Given the description of an element on the screen output the (x, y) to click on. 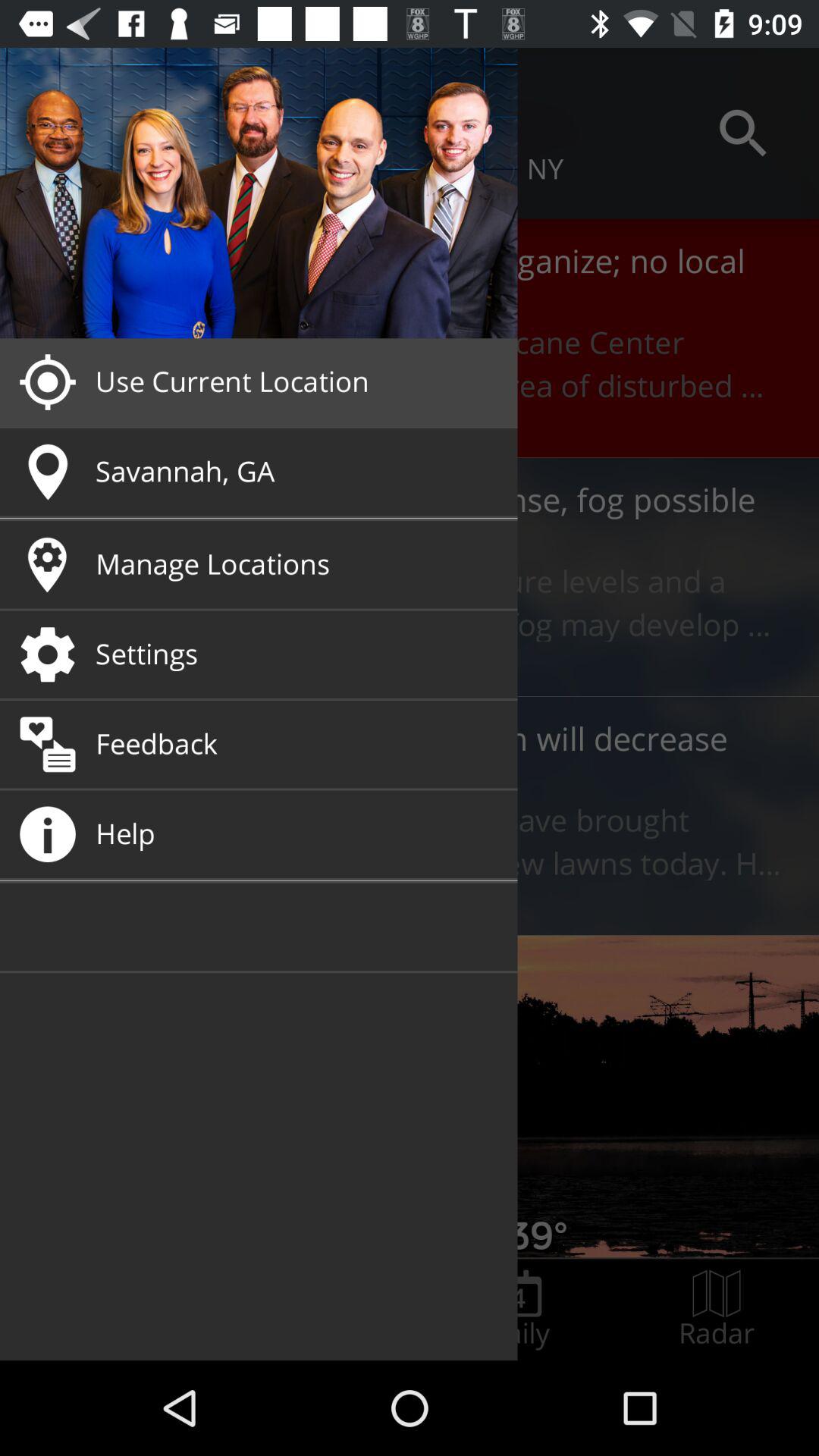
click search icon in top right corner (743, 133)
